Given the description of an element on the screen output the (x, y) to click on. 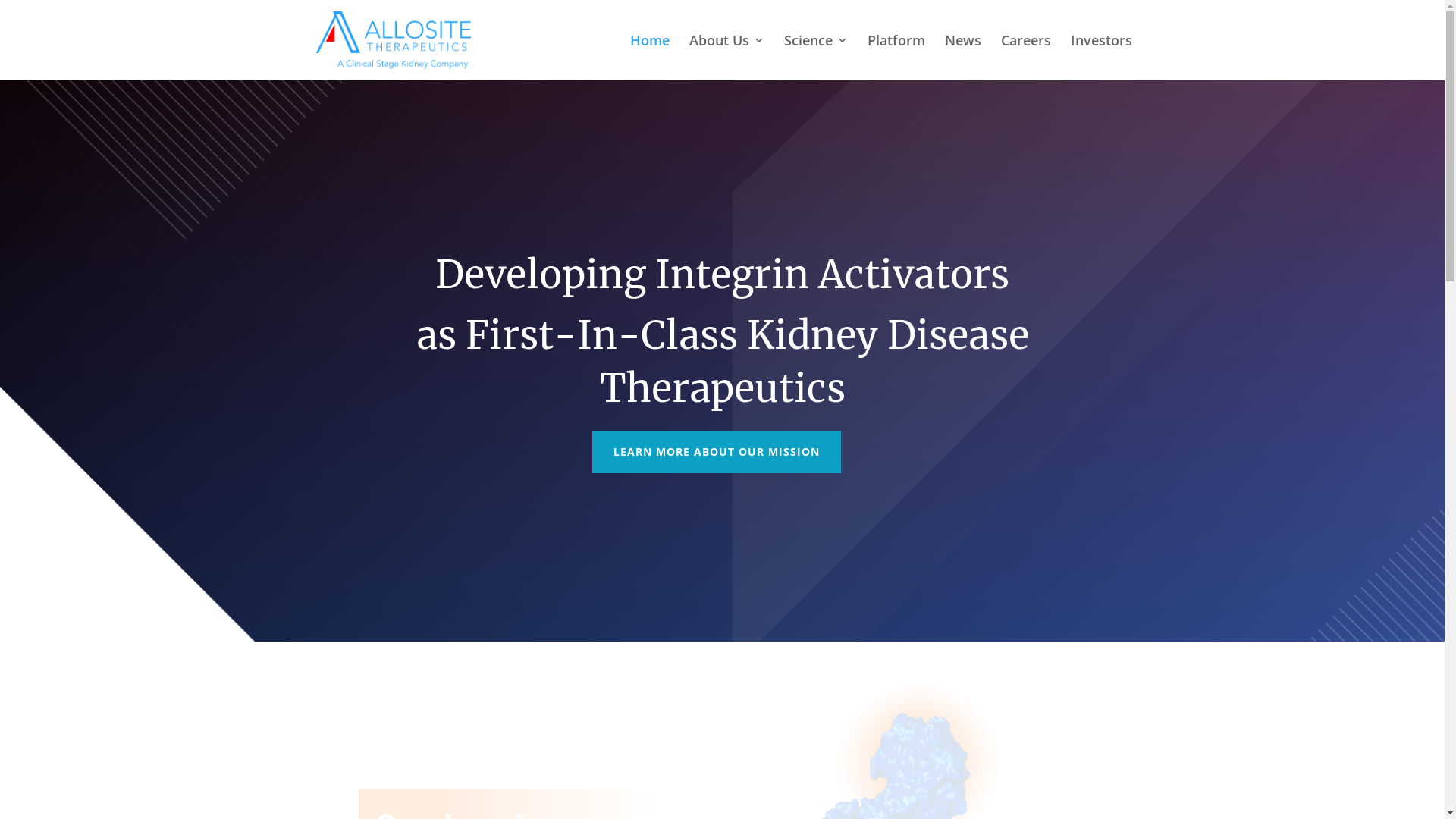
Investors Element type: text (1101, 57)
About Us Element type: text (725, 57)
News Element type: text (962, 57)
Platform Element type: text (896, 57)
Home Element type: text (648, 57)
LEARN MORE ABOUT OUR MISSION Element type: text (716, 451)
Careers Element type: text (1026, 57)
Science Element type: text (815, 57)
